Given the description of an element on the screen output the (x, y) to click on. 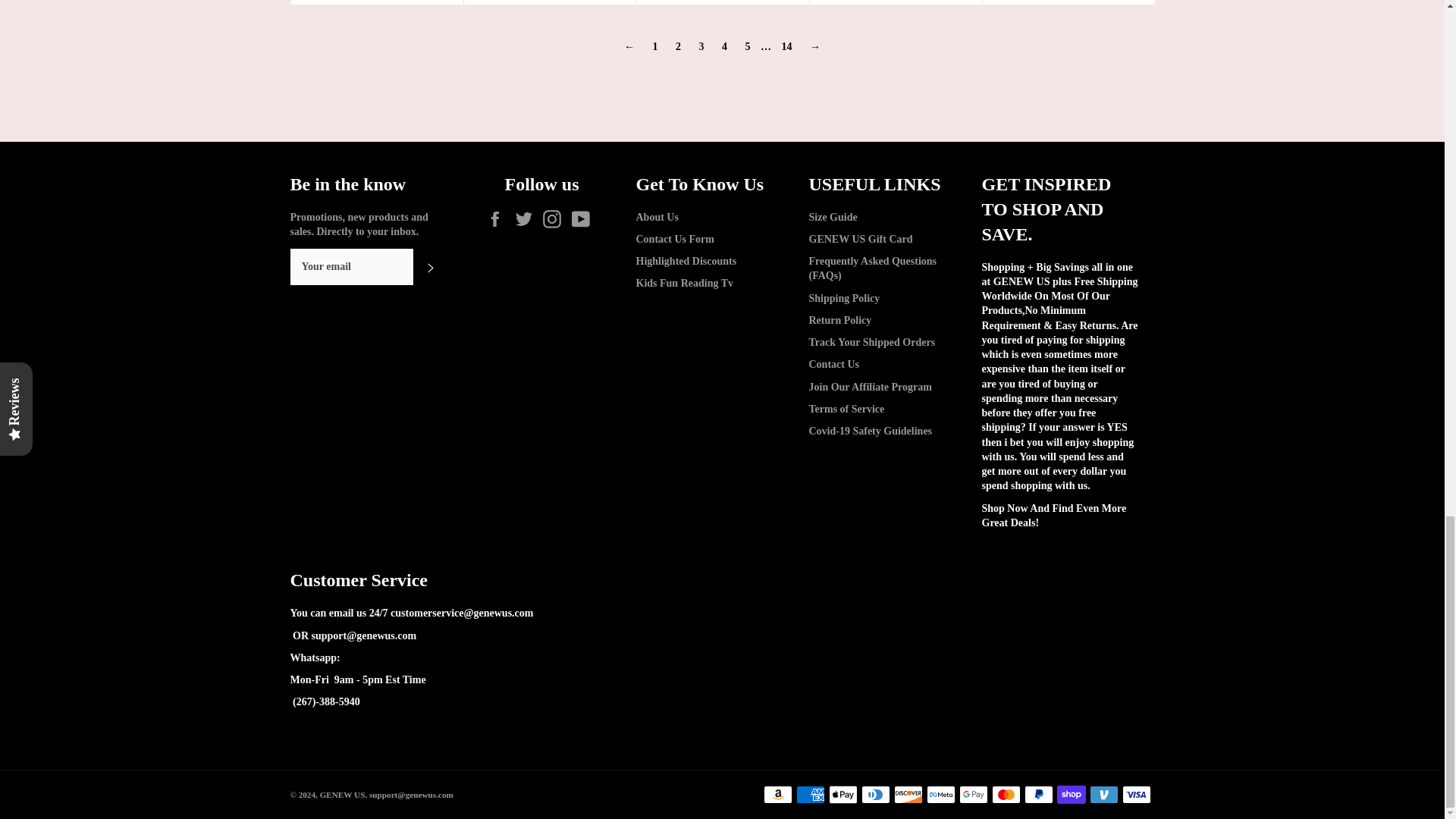
GENEW US on YouTube (584, 218)
GENEW US on Facebook (499, 218)
GENEW US on Twitter (527, 218)
GENEW US on Instagram (556, 218)
